Given the description of an element on the screen output the (x, y) to click on. 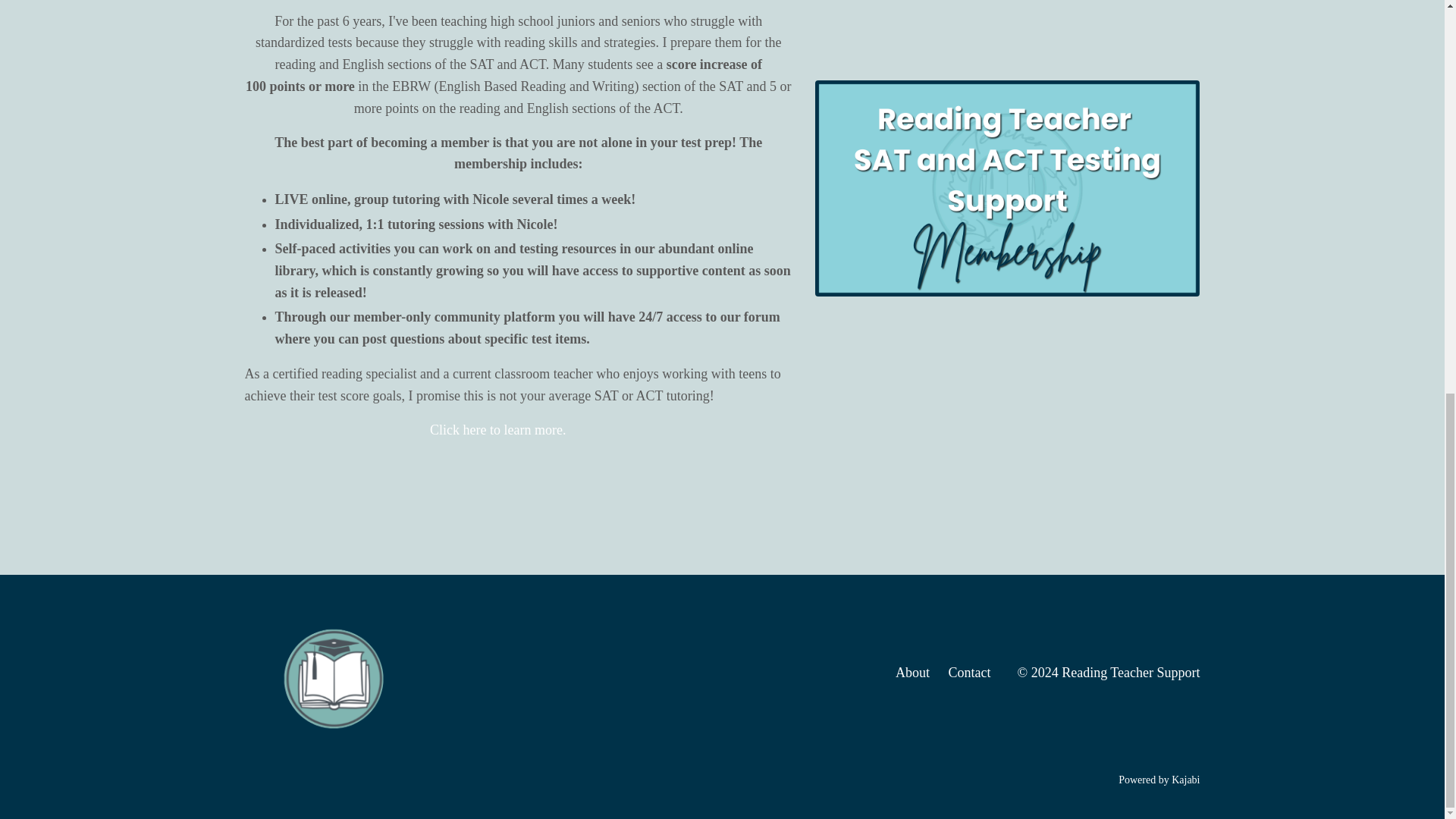
About (912, 672)
Contact (968, 672)
Powered by Kajabi (1158, 779)
Click here to learn more (495, 429)
